Given the description of an element on the screen output the (x, y) to click on. 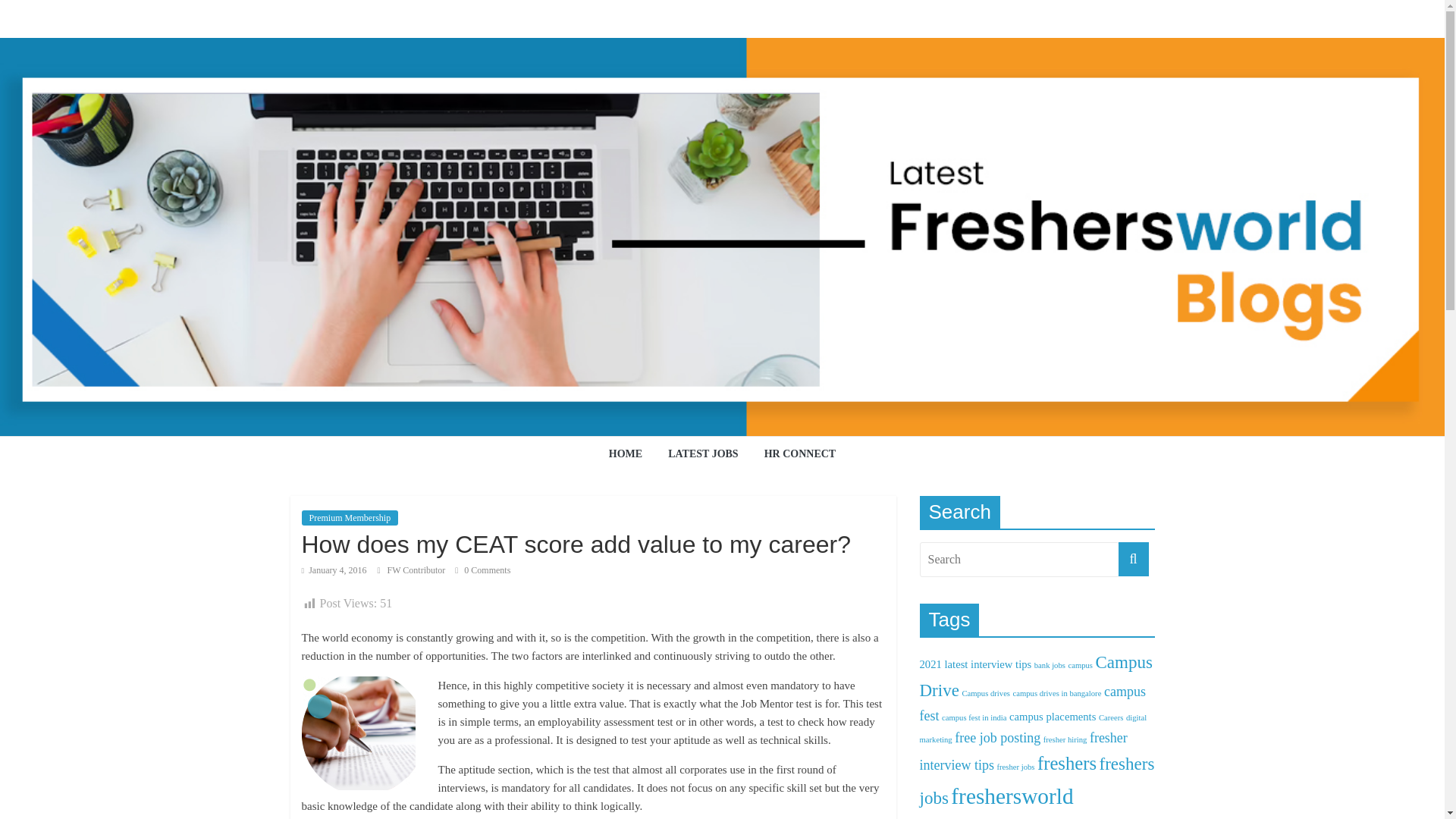
71 (357, 733)
Careers (1111, 717)
9:23 am (333, 570)
campus drives in bangalore (1057, 693)
campus (1080, 664)
January 4, 2016 (333, 570)
fresher jobs (1014, 766)
Campus drives (985, 693)
Premium Membership (349, 517)
0 Comments (482, 570)
